Given the description of an element on the screen output the (x, y) to click on. 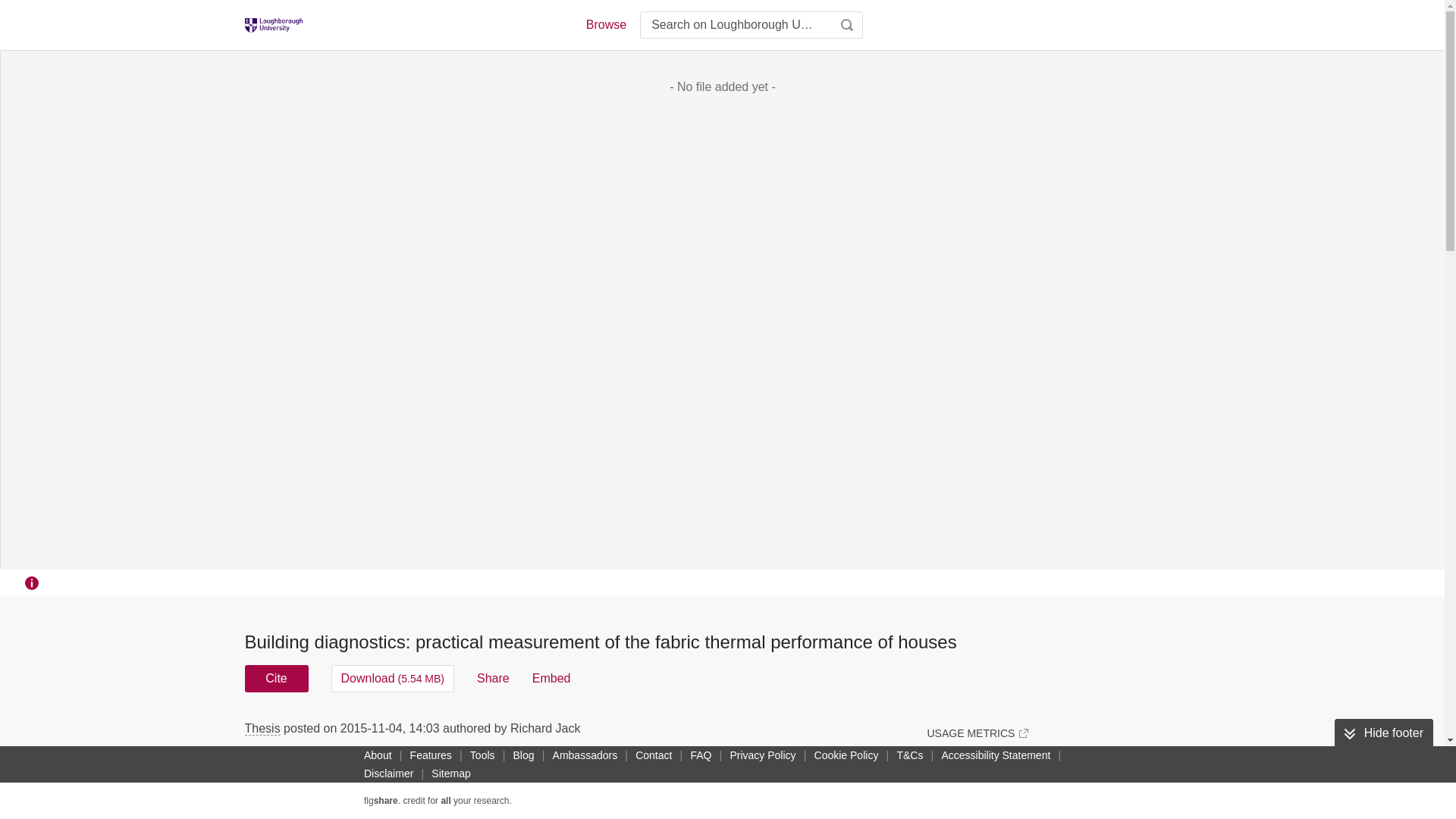
Cookie Policy (846, 755)
Ambassadors (585, 755)
USAGE METRICS (976, 732)
Share (493, 678)
Browse (605, 24)
Hide footer (1383, 733)
About (377, 755)
Tools (482, 755)
Embed (551, 678)
FAQ (700, 755)
